Given the description of an element on the screen output the (x, y) to click on. 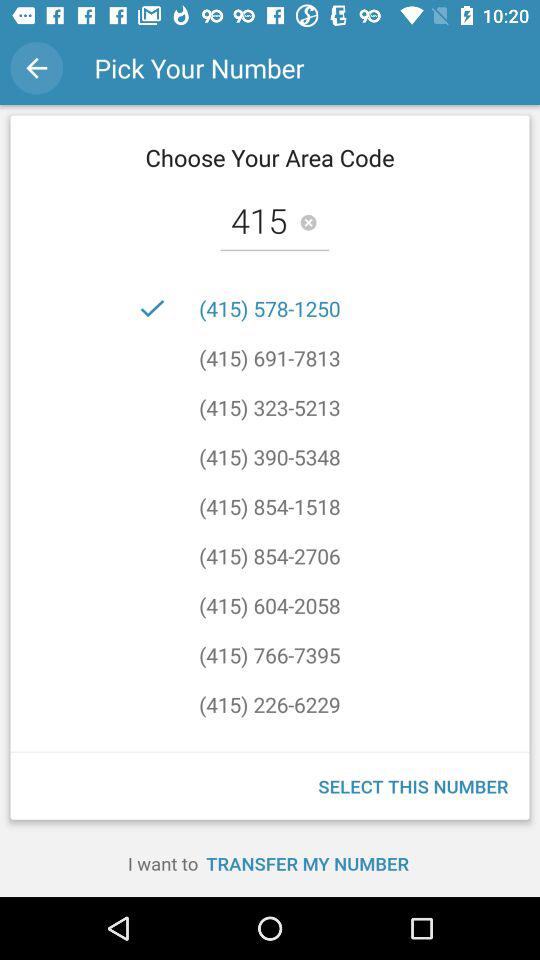
tap icon below the 415 (269, 308)
